Given the description of an element on the screen output the (x, y) to click on. 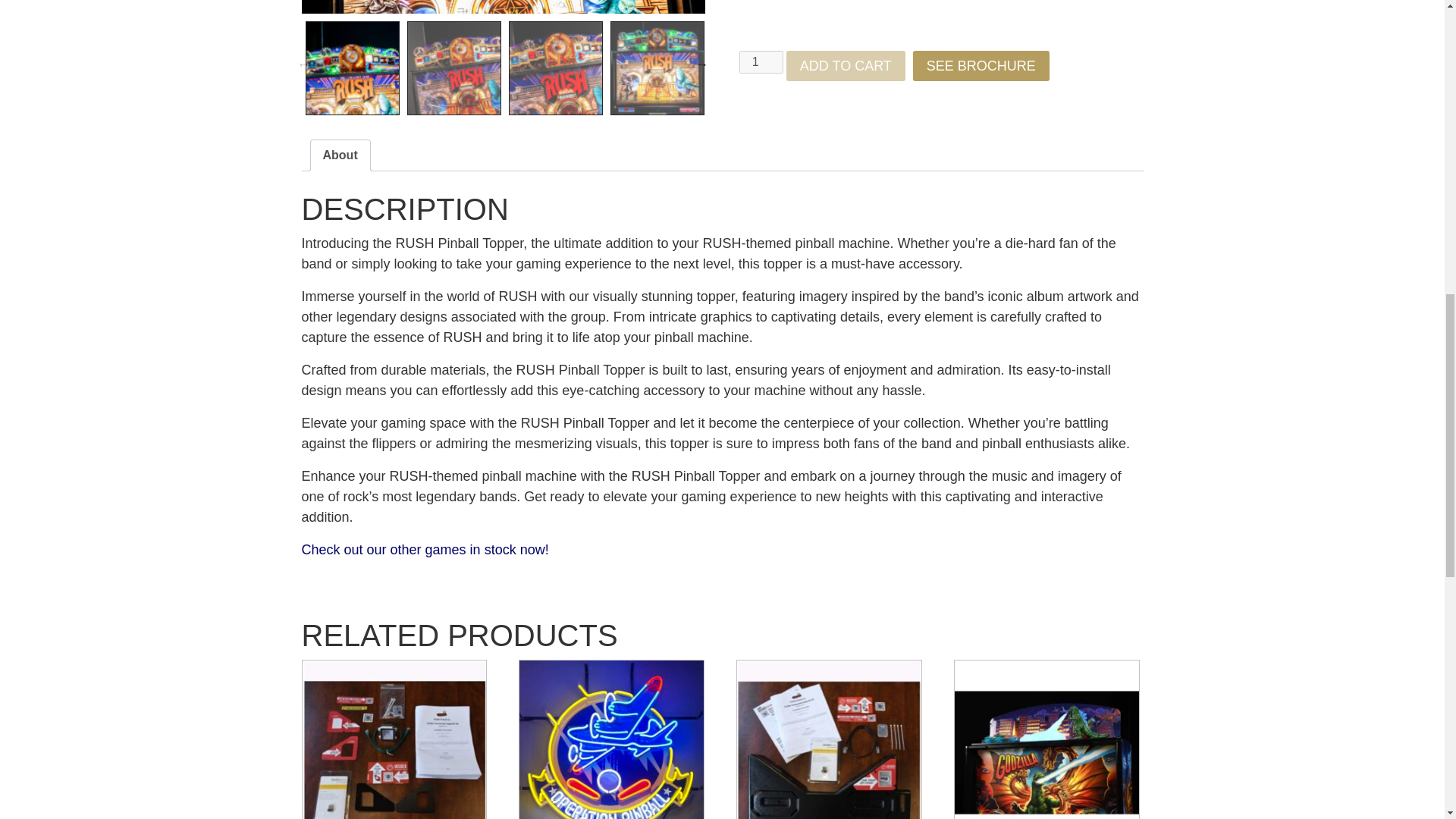
1 (761, 61)
Rush Pinball Accessories Trailer (928, 16)
